Given the description of an element on the screen output the (x, y) to click on. 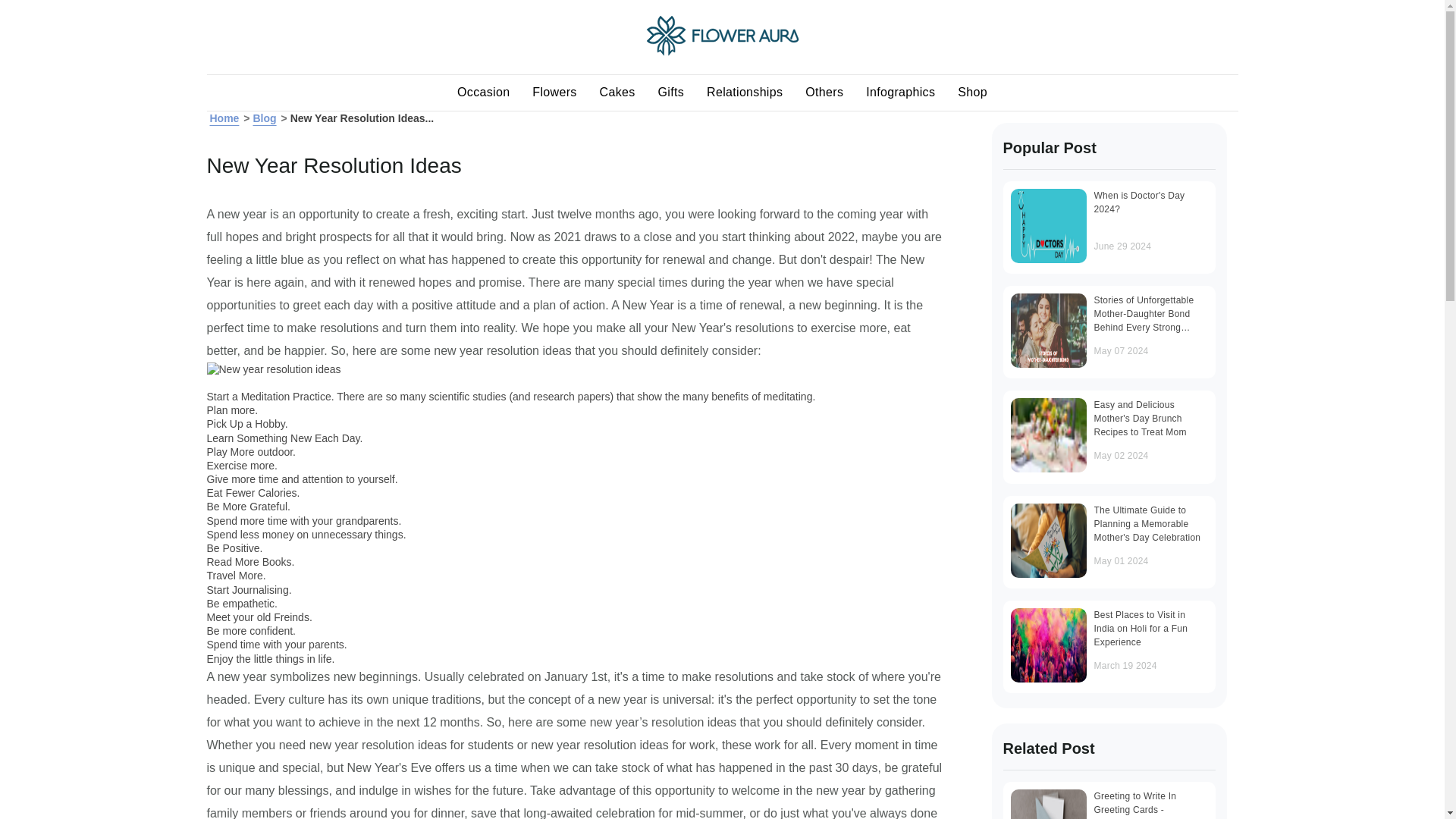
New year resolution ideas (273, 368)
Easy and Delicious Mother's Day Brunch Recipes to Treat Mom (1048, 435)
Relationships (744, 92)
Flowers (554, 92)
Home (722, 51)
Home (224, 118)
Infographics (900, 92)
Blog (264, 118)
Cakes (617, 92)
Shop (972, 92)
Blog (264, 118)
When is Doctor's Day 2024?  (1048, 225)
